Given the description of an element on the screen output the (x, y) to click on. 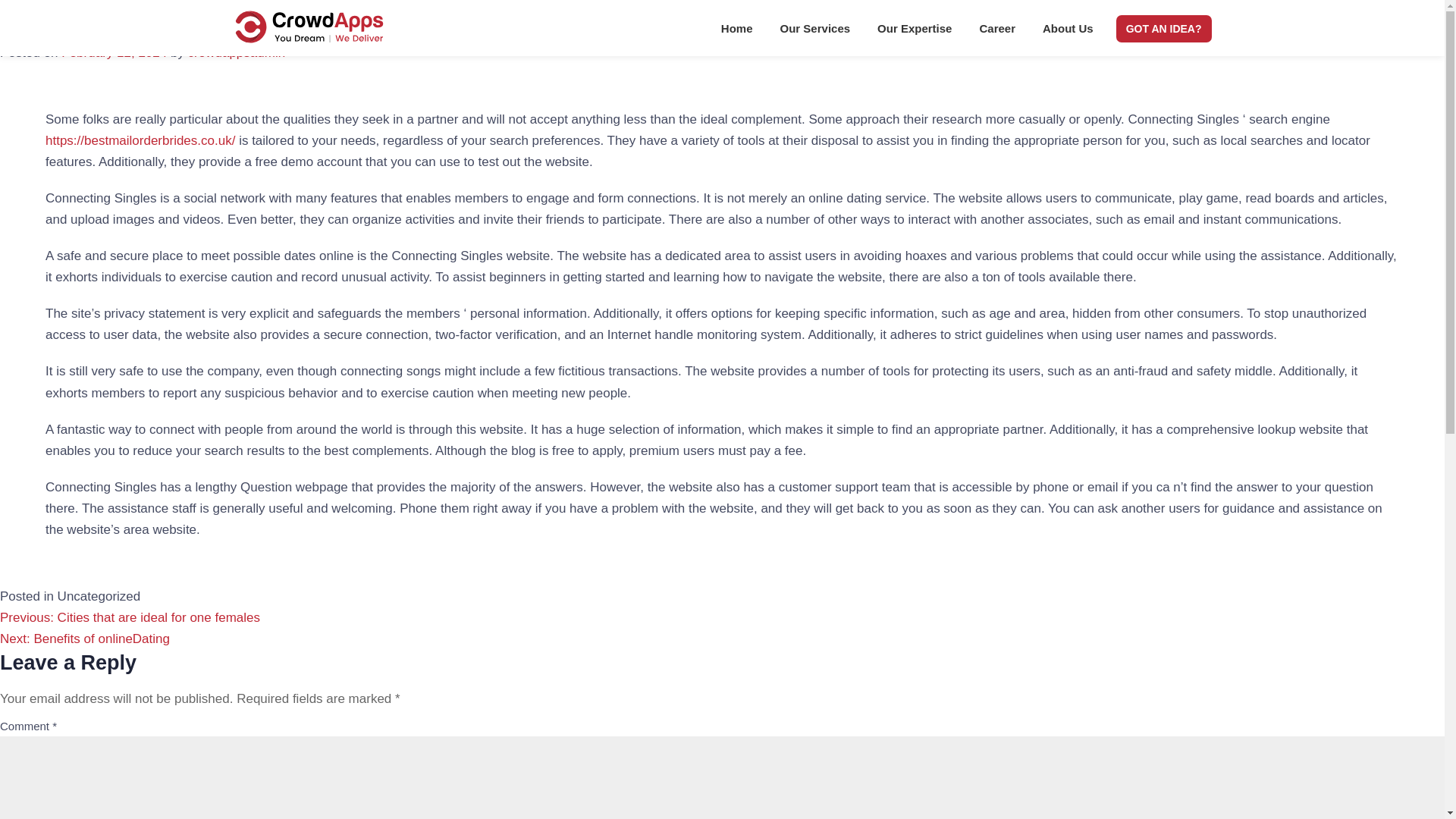
February 12, 2024 (114, 52)
crowdappsadmin (236, 52)
Our Services (815, 31)
Our Expertise (914, 31)
Previous: Cities that are ideal for one females (130, 617)
Next: Benefits of onlineDating (85, 638)
About Us (1067, 31)
GOT AN IDEA? (1163, 28)
Career (997, 31)
Home (737, 31)
